Given the description of an element on the screen output the (x, y) to click on. 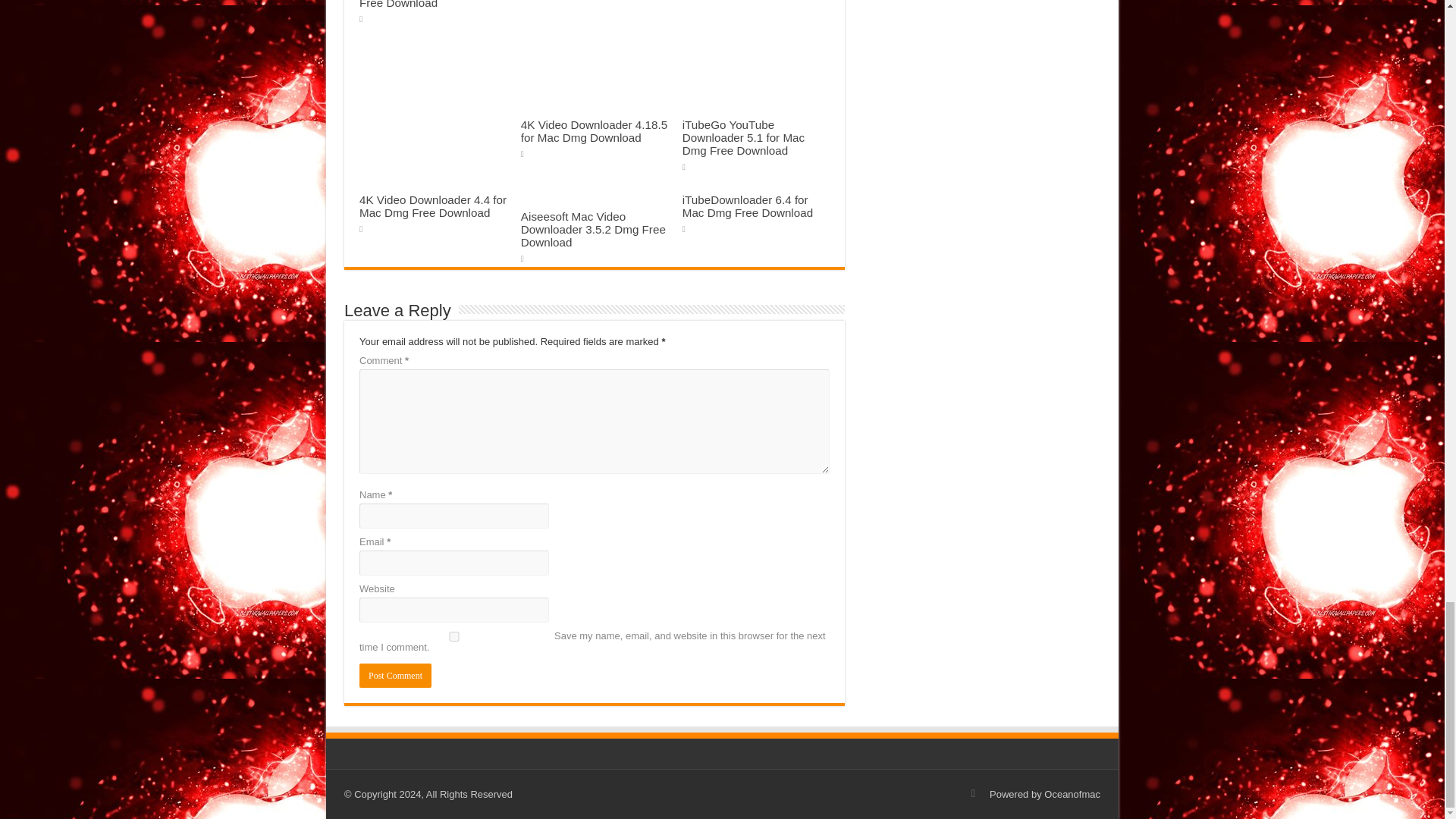
yes (453, 636)
Post Comment (394, 675)
